Given the description of an element on the screen output the (x, y) to click on. 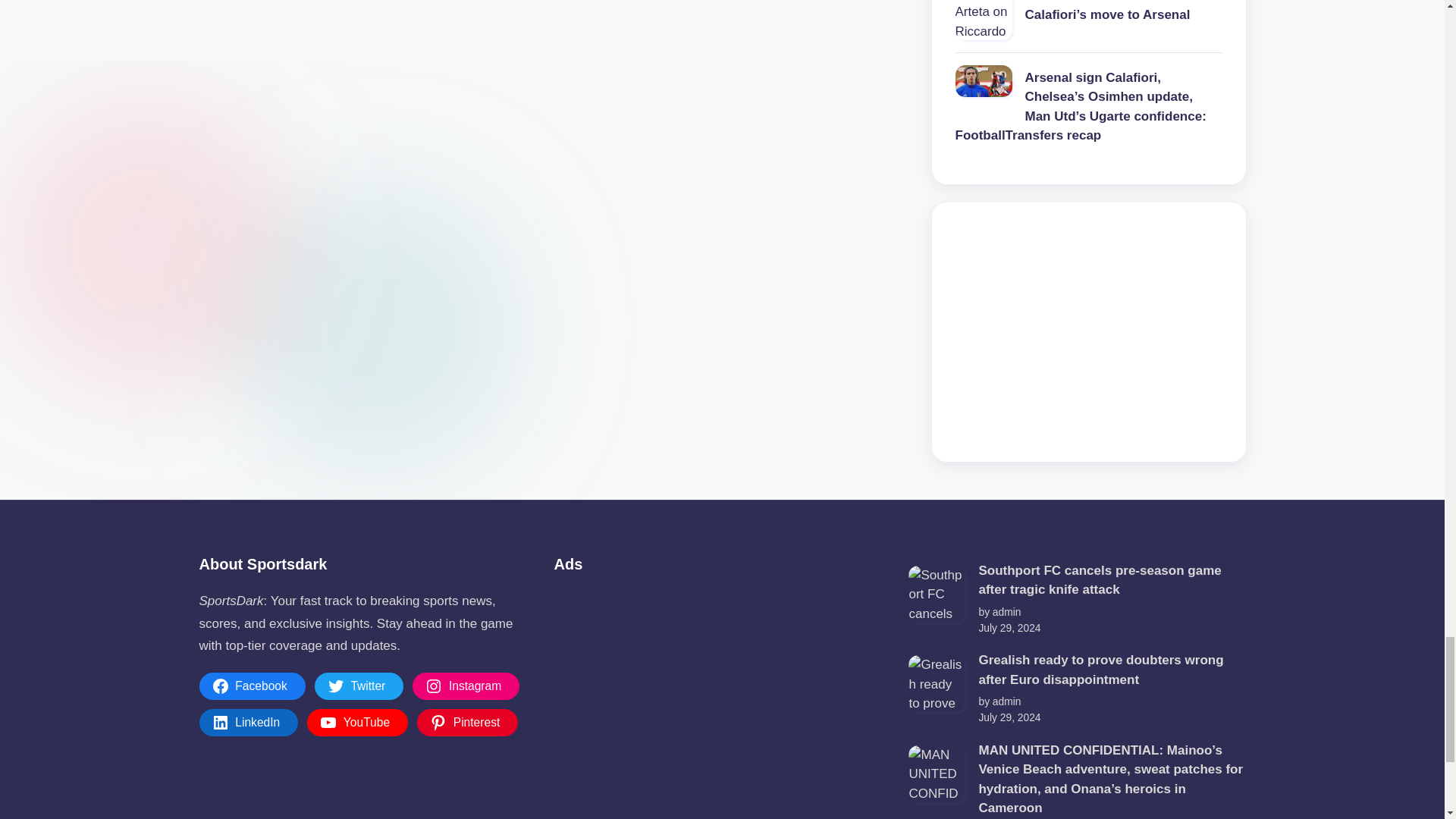
Instagram (465, 686)
Twitter (359, 686)
Facebook (251, 686)
